Given the description of an element on the screen output the (x, y) to click on. 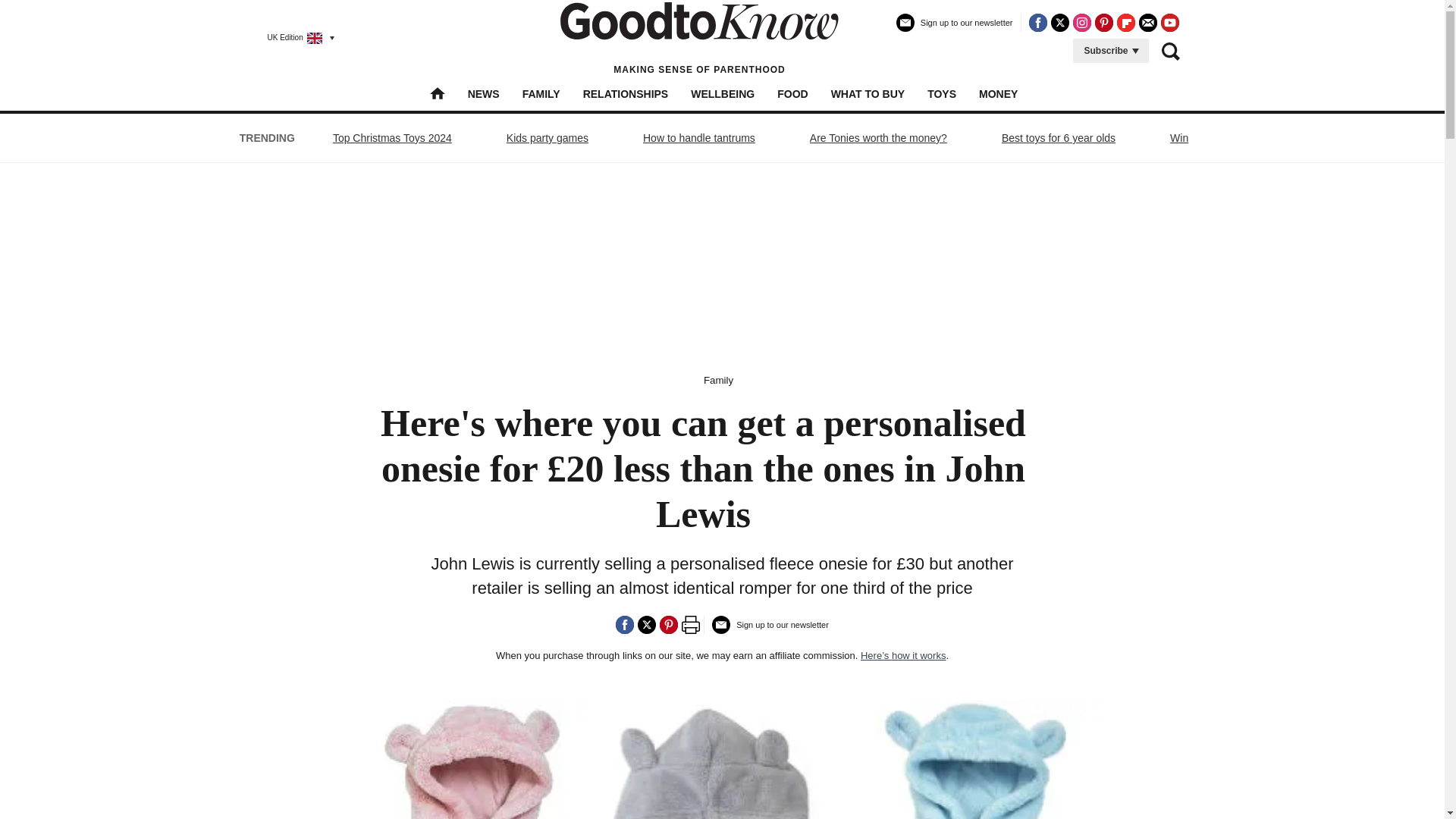
FOOD (792, 93)
WHAT TO BUY (867, 93)
Family (718, 379)
Are Tonies worth the money? (878, 137)
Best toys for 6 year olds (1058, 137)
How to handle tantrums (698, 137)
Sign up to our newsletter (954, 28)
NEWS (483, 93)
Kids party games (547, 137)
WELLBEING (722, 93)
